Given the description of an element on the screen output the (x, y) to click on. 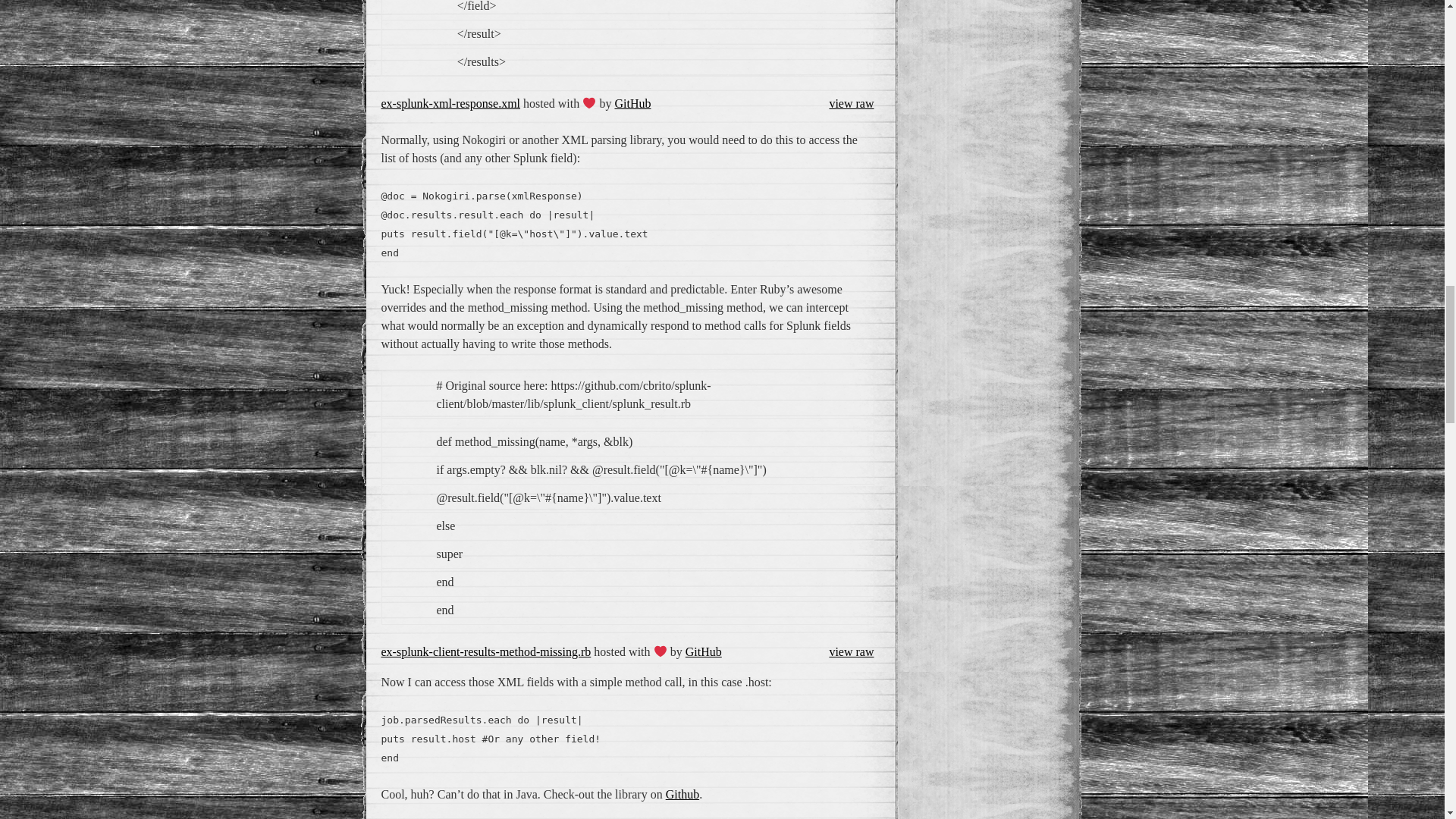
view raw (850, 104)
Github (681, 793)
ex-splunk-xml-response.xml (449, 103)
view raw (850, 651)
ex-splunk-client-results-method-missing.rb (485, 651)
GitHub (703, 651)
GitHub (632, 103)
